Given the description of an element on the screen output the (x, y) to click on. 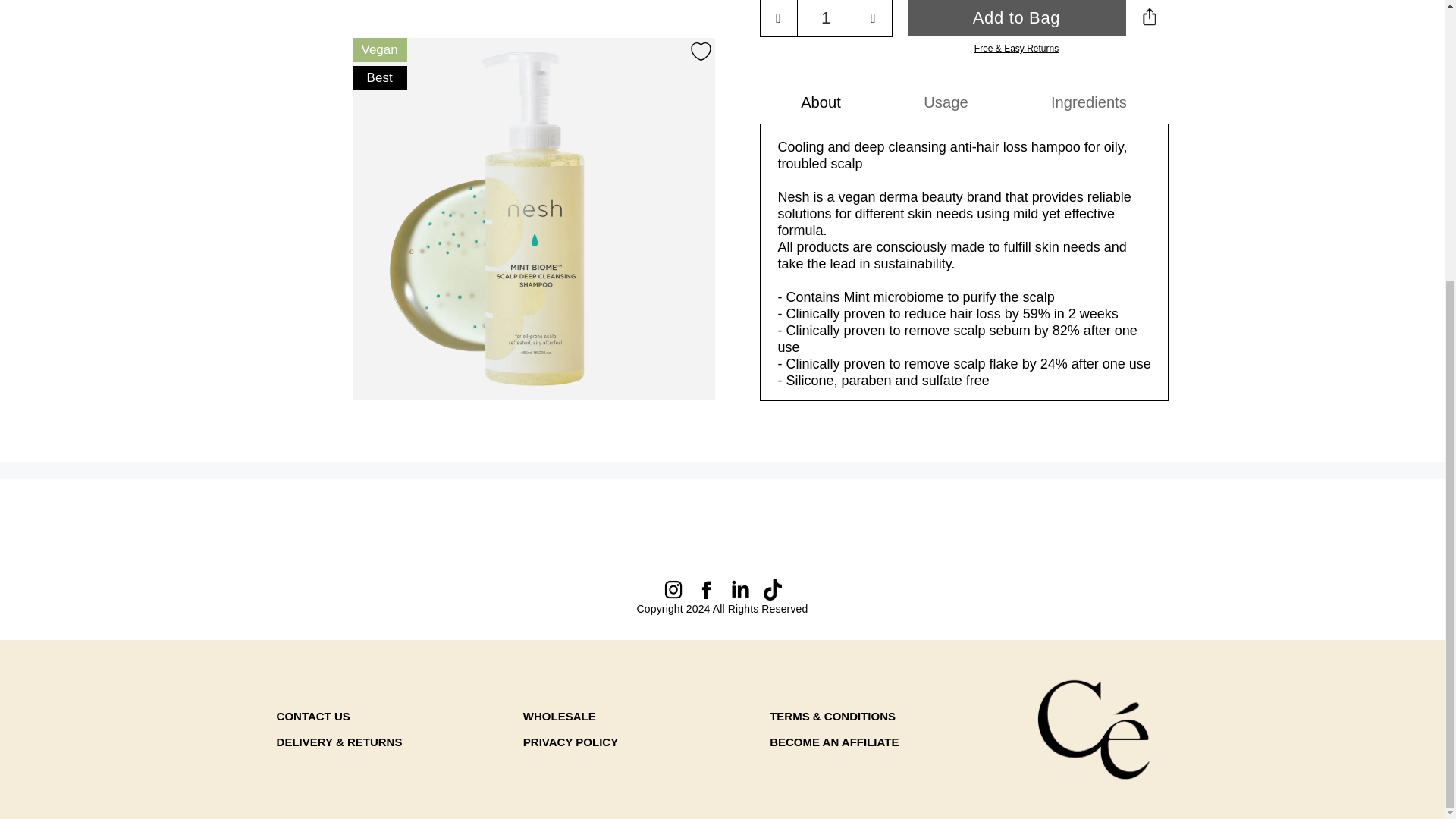
1 (825, 18)
